Given the description of an element on the screen output the (x, y) to click on. 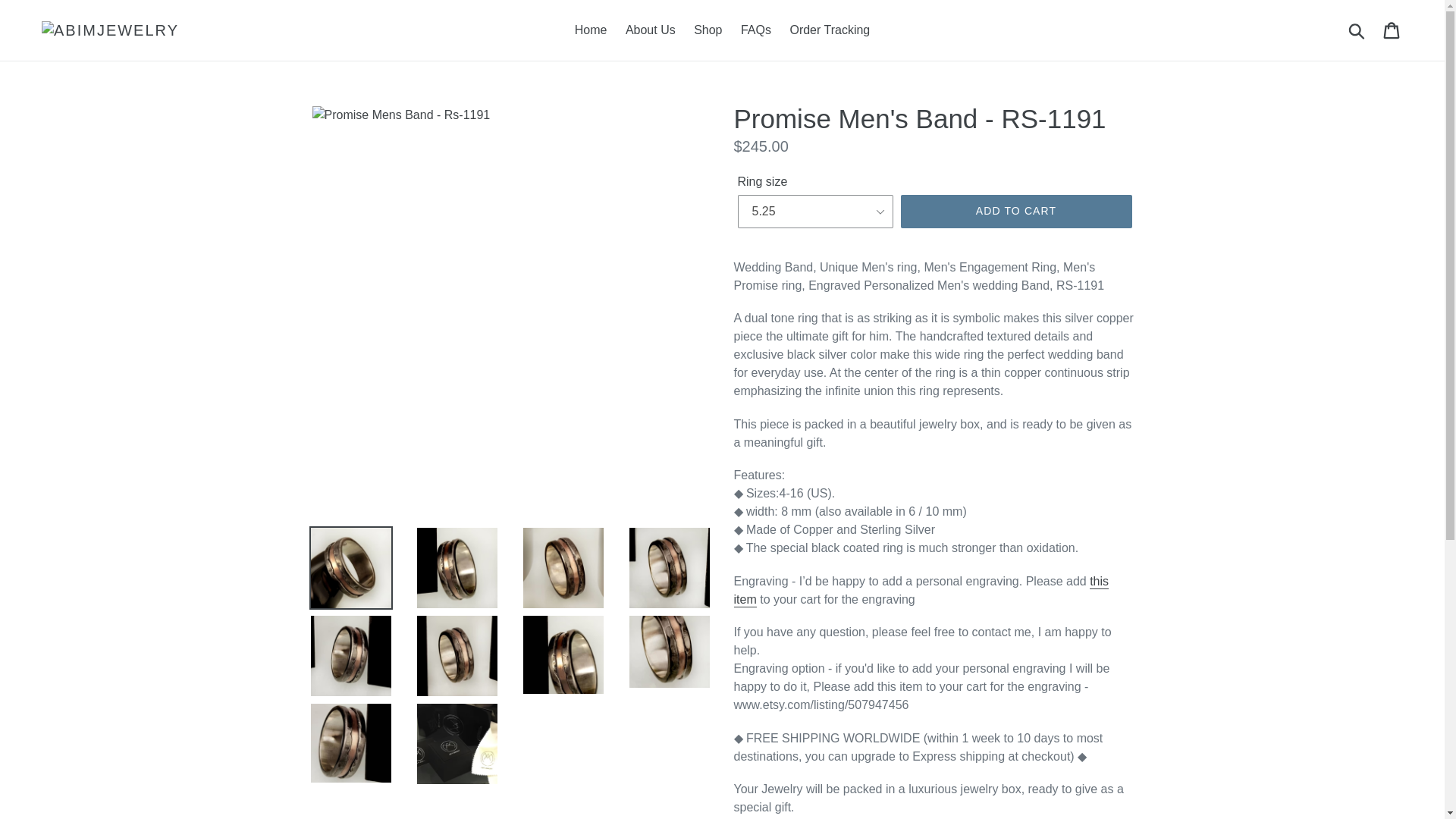
Cart (1392, 29)
FAQs (755, 29)
Adding Engraving (921, 590)
Shop (707, 29)
Order Tracking (829, 29)
this item (921, 590)
About Us (649, 29)
Submit (1357, 29)
Home (590, 29)
ADD TO CART (1016, 211)
